Given the description of an element on the screen output the (x, y) to click on. 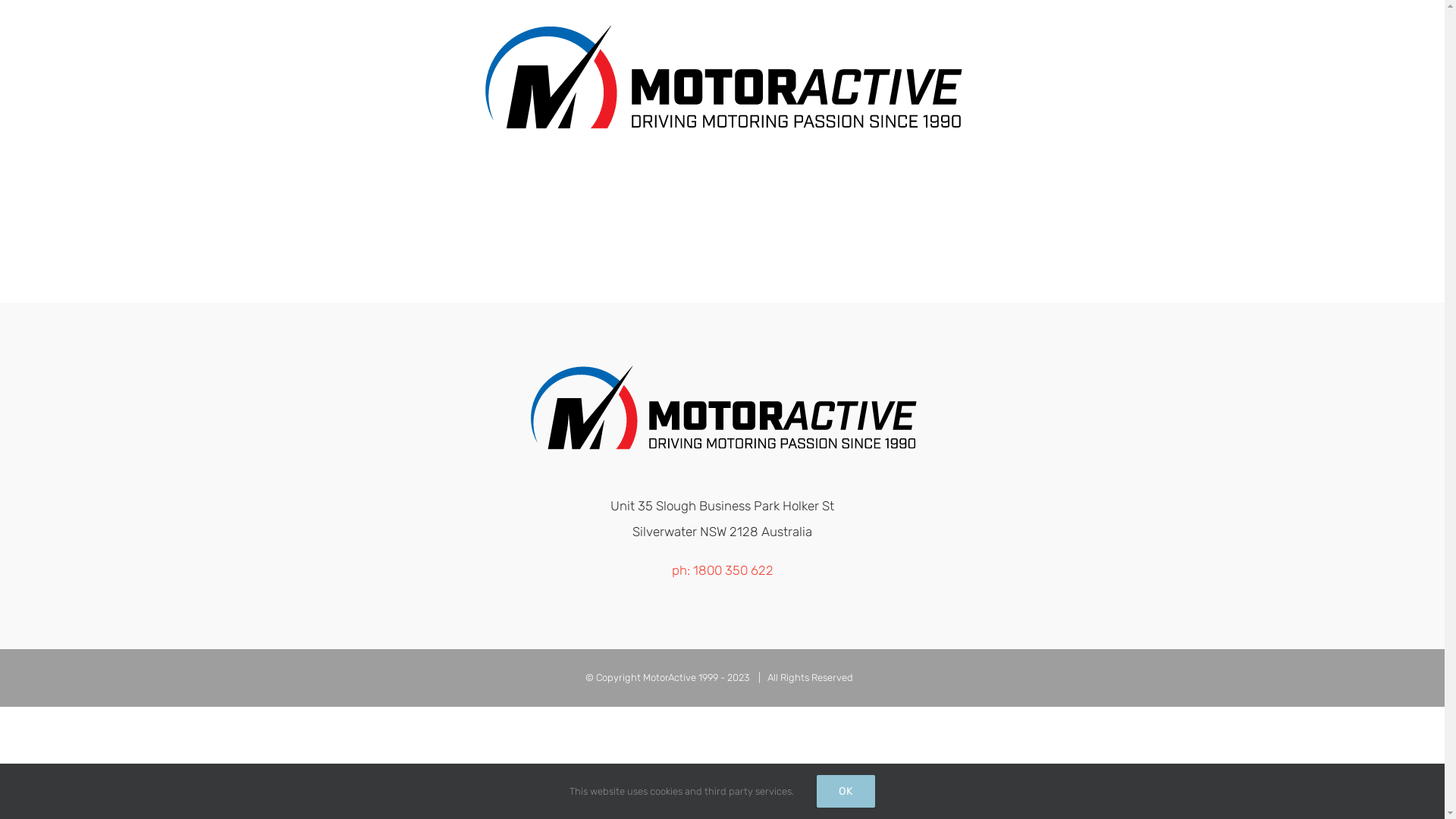
OK Element type: text (845, 791)
ph: 1800 350 622 Element type: text (722, 569)
